Given the description of an element on the screen output the (x, y) to click on. 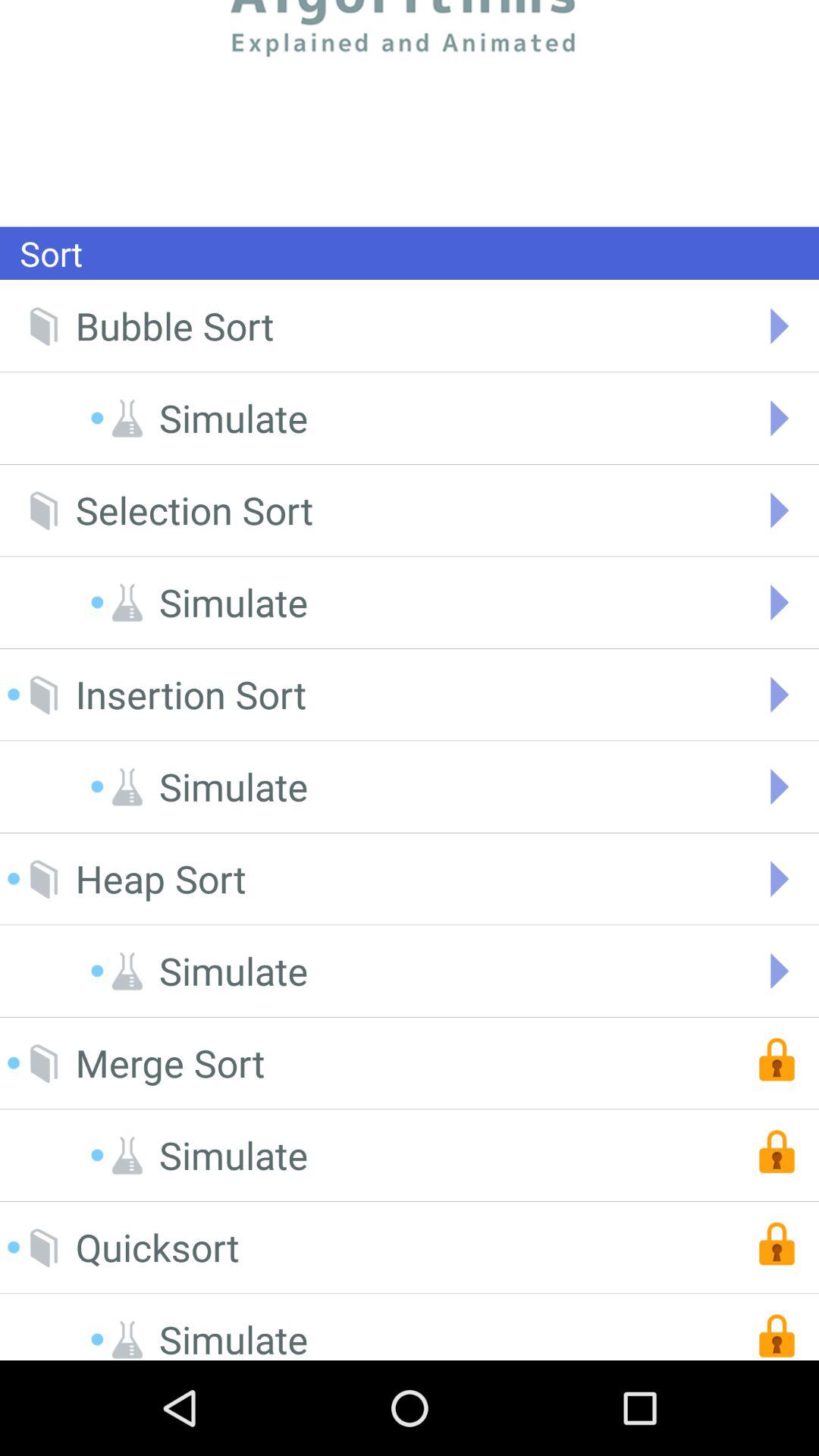
open the icon above the simulate (194, 510)
